Given the description of an element on the screen output the (x, y) to click on. 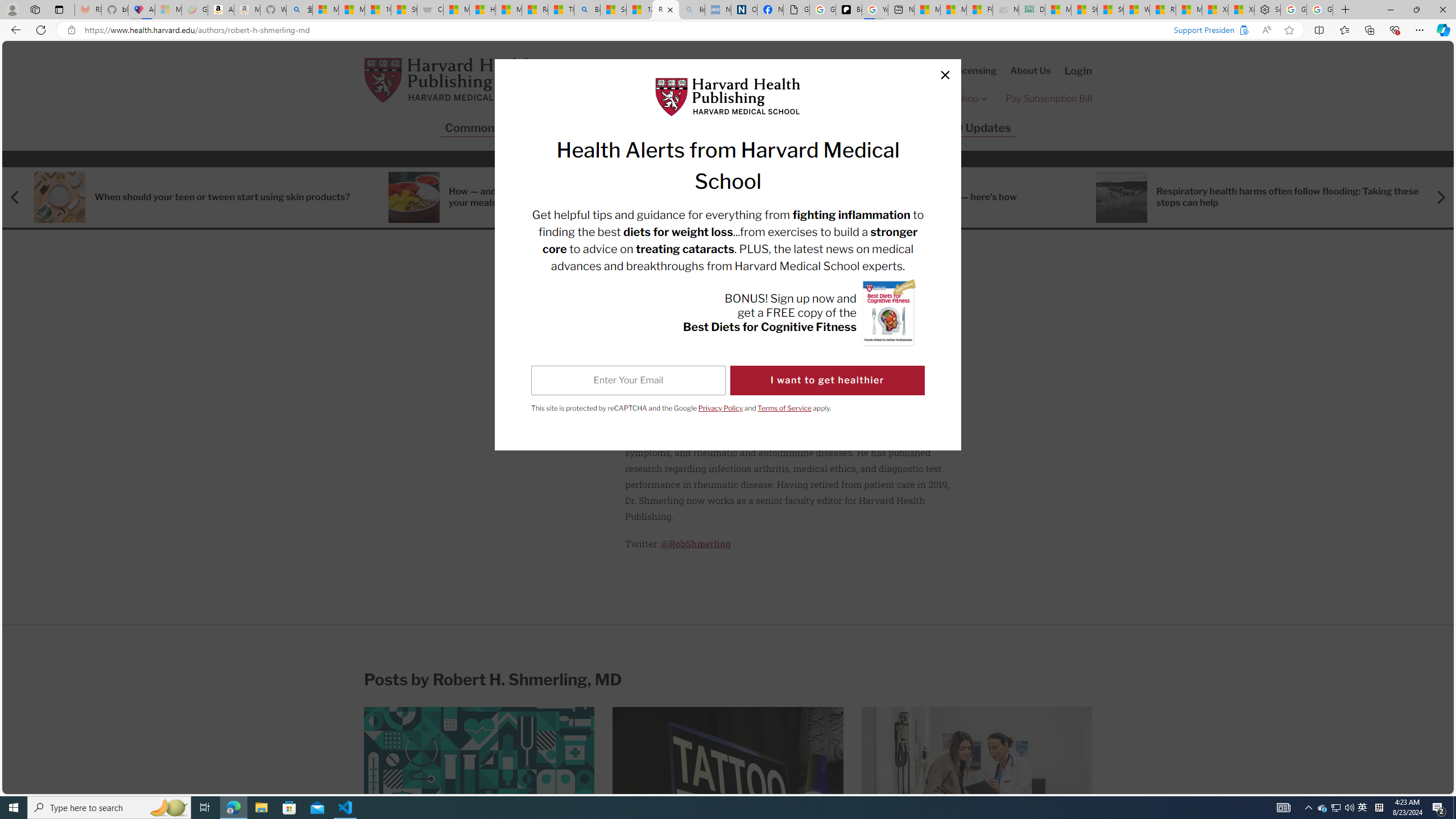
I want to get healthier (826, 380)
Common Conditions (499, 127)
Terms of Service (783, 406)
About Us (1030, 70)
Privacy Policy (720, 406)
